Given the description of an element on the screen output the (x, y) to click on. 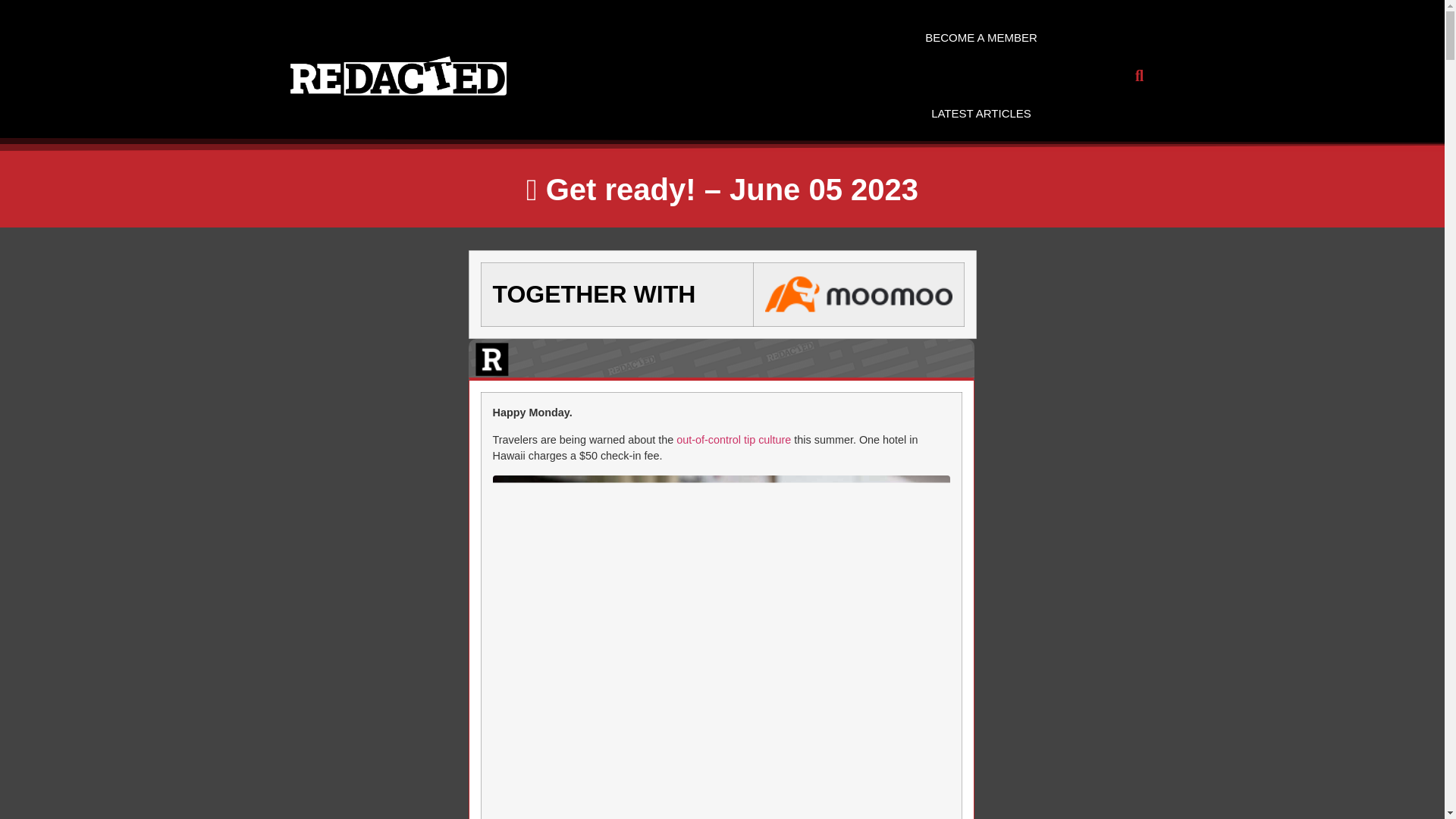
BECOME A MEMBER (981, 38)
out-of-control tip culture (733, 439)
LATEST ARTICLES (980, 113)
